Given the description of an element on the screen output the (x, y) to click on. 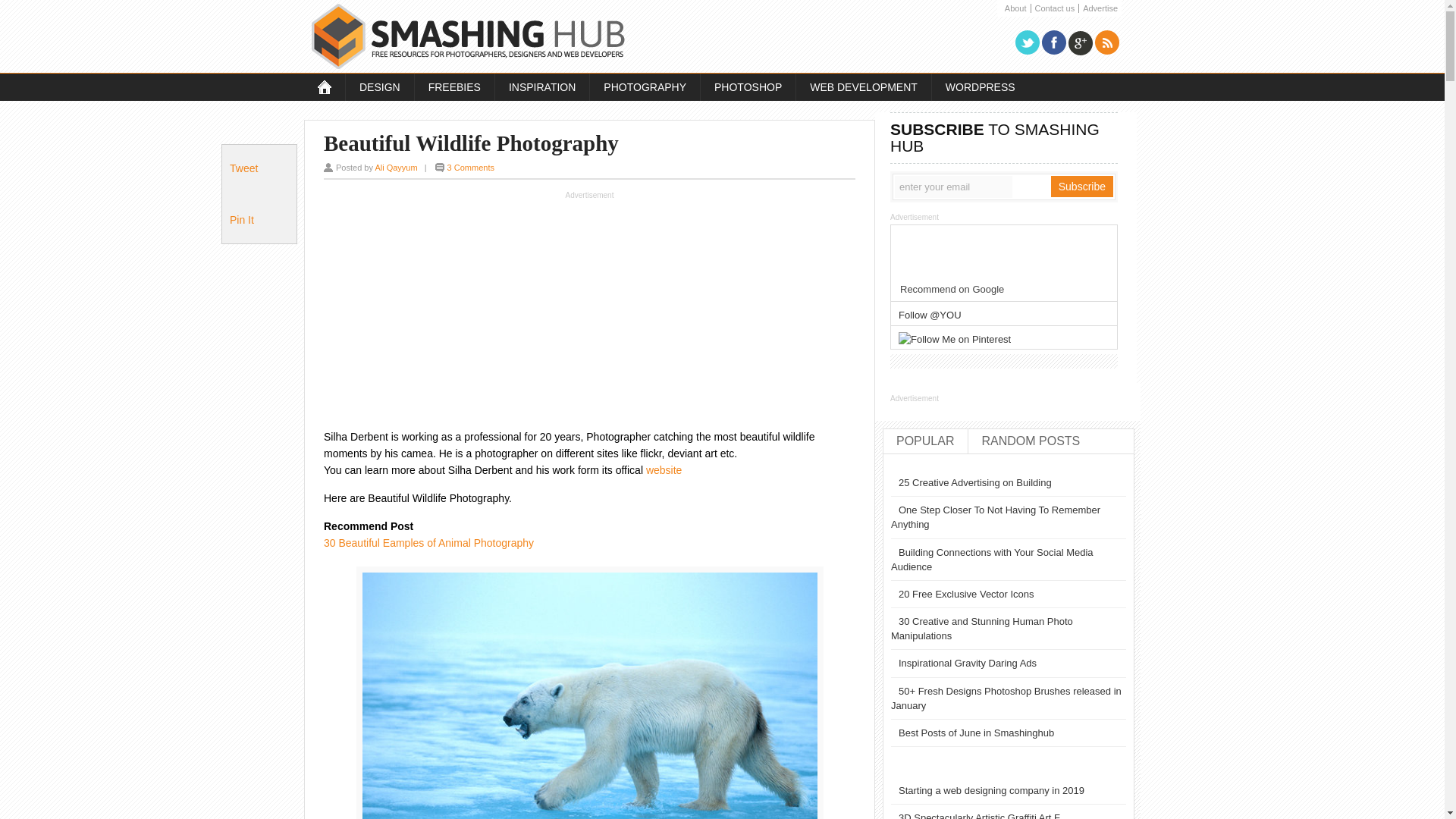
DESIGN (379, 86)
INSPIRATION (542, 86)
Enter your email (953, 187)
Advertise (1099, 8)
Contact us (1054, 8)
Google Plus (1080, 42)
About Smashing Hub (1015, 8)
PHOTOGRAPHY (644, 86)
Subscribe (1082, 186)
Twitter (1026, 42)
RSS (1106, 42)
animal-14 (590, 692)
FREEBIES (454, 86)
HOME (324, 86)
About (1015, 8)
